Given the description of an element on the screen output the (x, y) to click on. 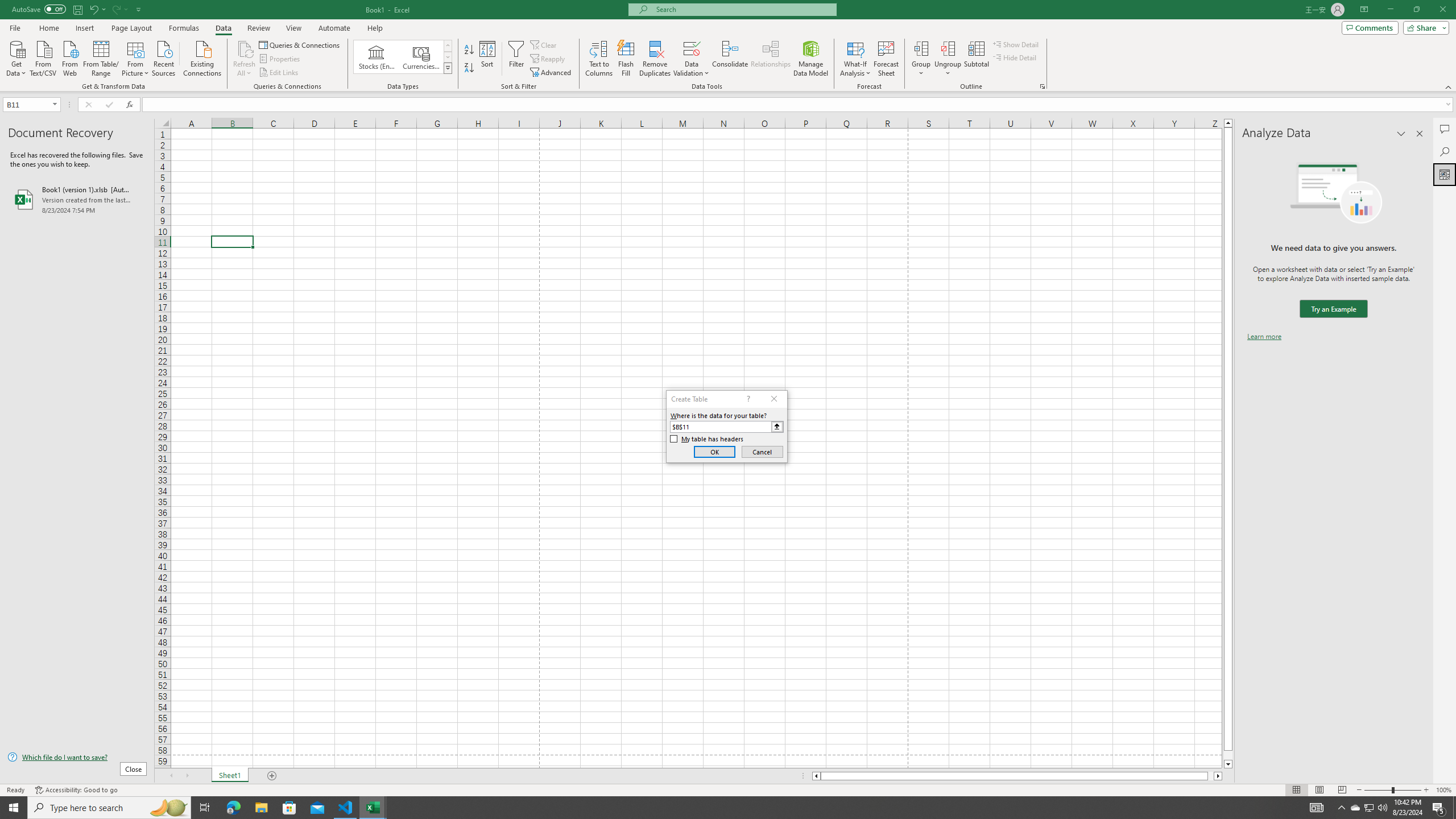
Data Types (448, 67)
Comments (1444, 128)
Stocks (English) (375, 56)
AutoSave (38, 9)
Ungroup... (947, 48)
Refresh All (244, 58)
Learn more (1264, 336)
We need data to give you answers. Try an Example (1333, 308)
Consolidate... (729, 58)
Row up (448, 45)
Undo (96, 9)
Scroll Right (187, 775)
Which file do I want to save? (77, 757)
Zoom (1392, 790)
